Given the description of an element on the screen output the (x, y) to click on. 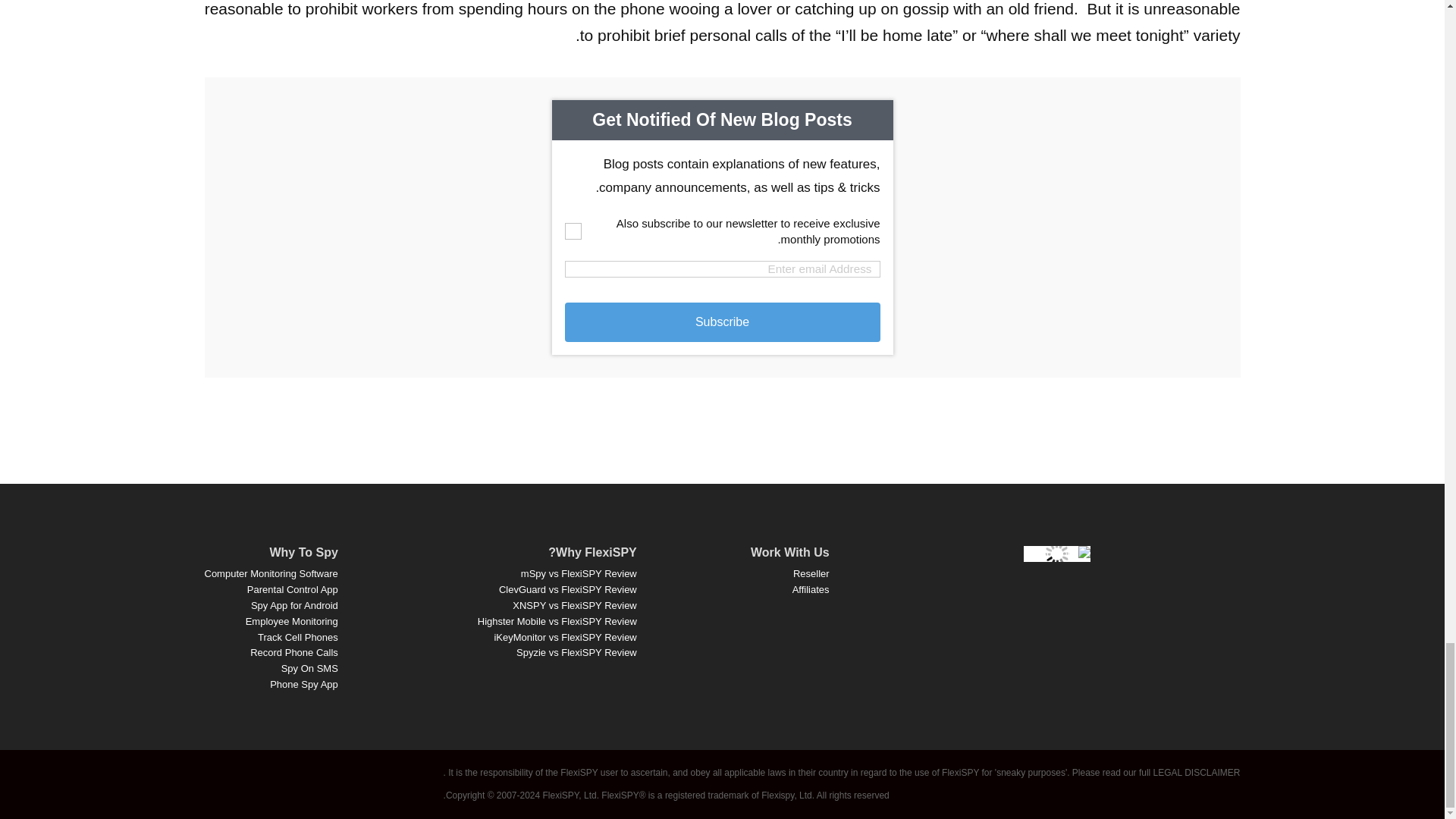
Track Cell Phones (297, 636)
Phone Spy App (303, 684)
Record Phone Calls (293, 652)
Parental Control App (292, 589)
Employee Monitoring (291, 621)
Computer Monitoring Software (271, 573)
Spy On SMS (309, 668)
mSpy vs FlexiSPY Review (579, 573)
ClevGuard vs FlexiSPY Review (568, 589)
Spy App for Android (293, 604)
